Given the description of an element on the screen output the (x, y) to click on. 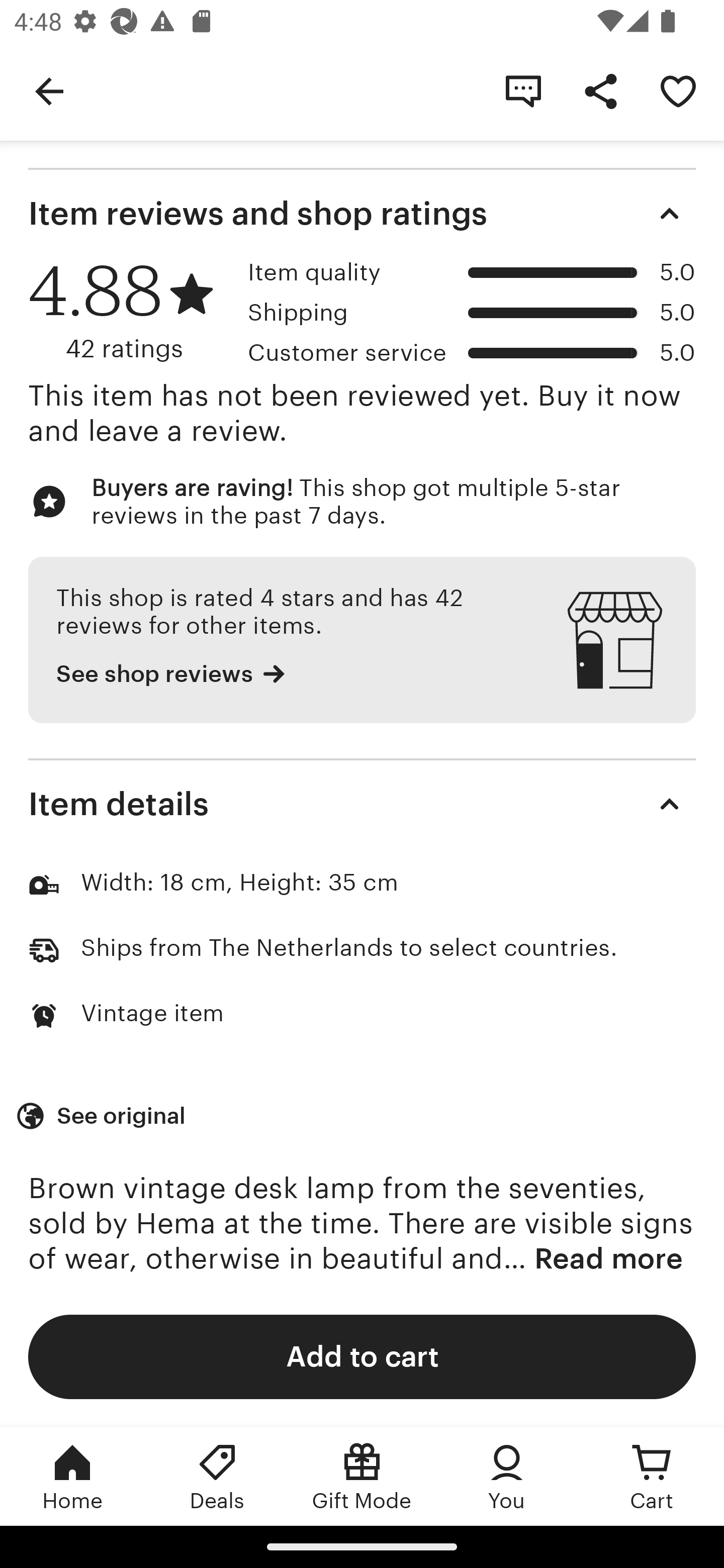
Navigate up (49, 90)
Contact shop (523, 90)
Share (600, 90)
Item reviews and shop ratings (362, 212)
4.88 42 ratings (130, 310)
Item details (362, 803)
See original (103, 1116)
Add to cart (361, 1355)
Deals (216, 1475)
Gift Mode (361, 1475)
You (506, 1475)
Cart (651, 1475)
